Given the description of an element on the screen output the (x, y) to click on. 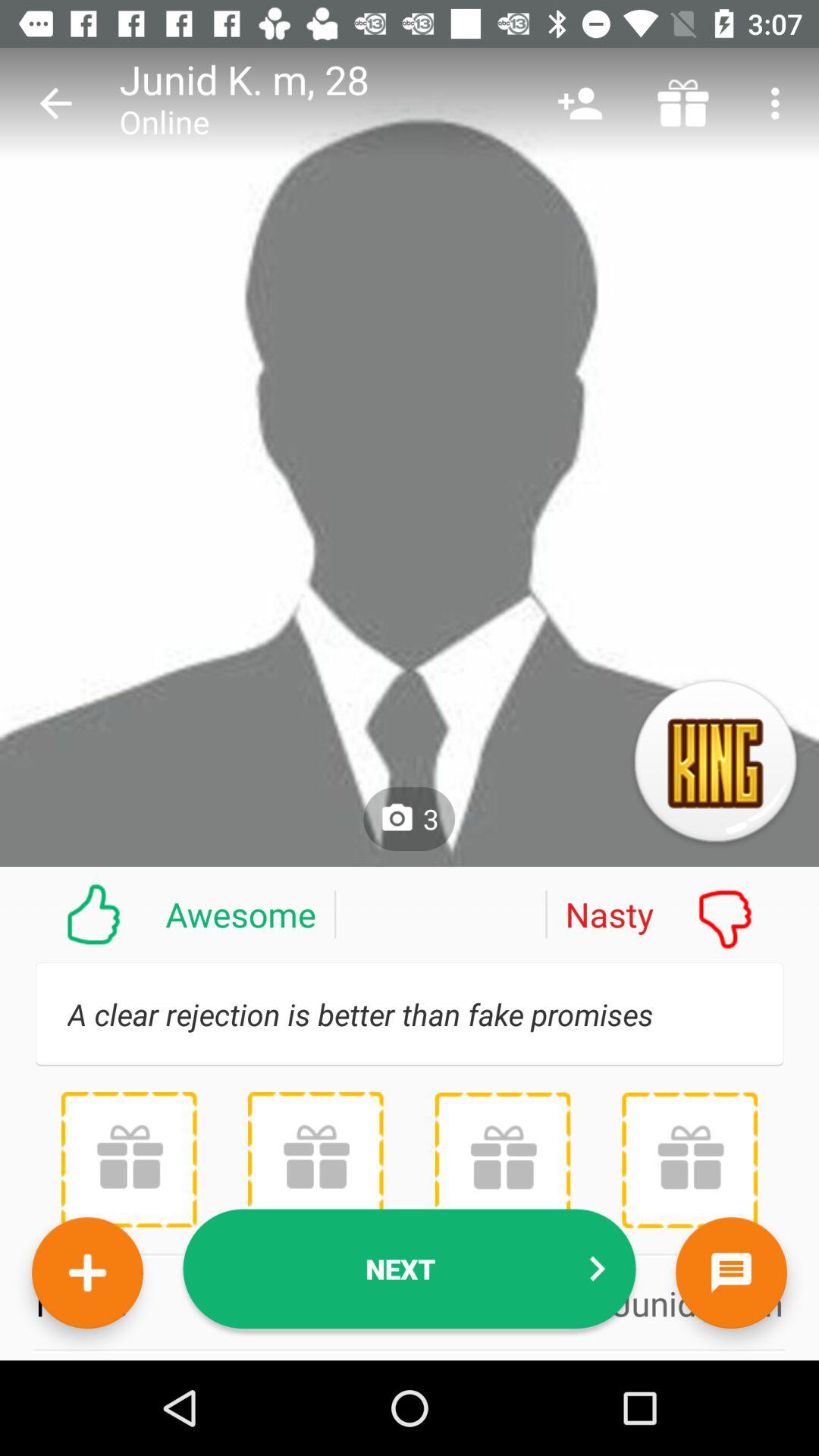
choose the item above nasty (579, 103)
